Given the description of an element on the screen output the (x, y) to click on. 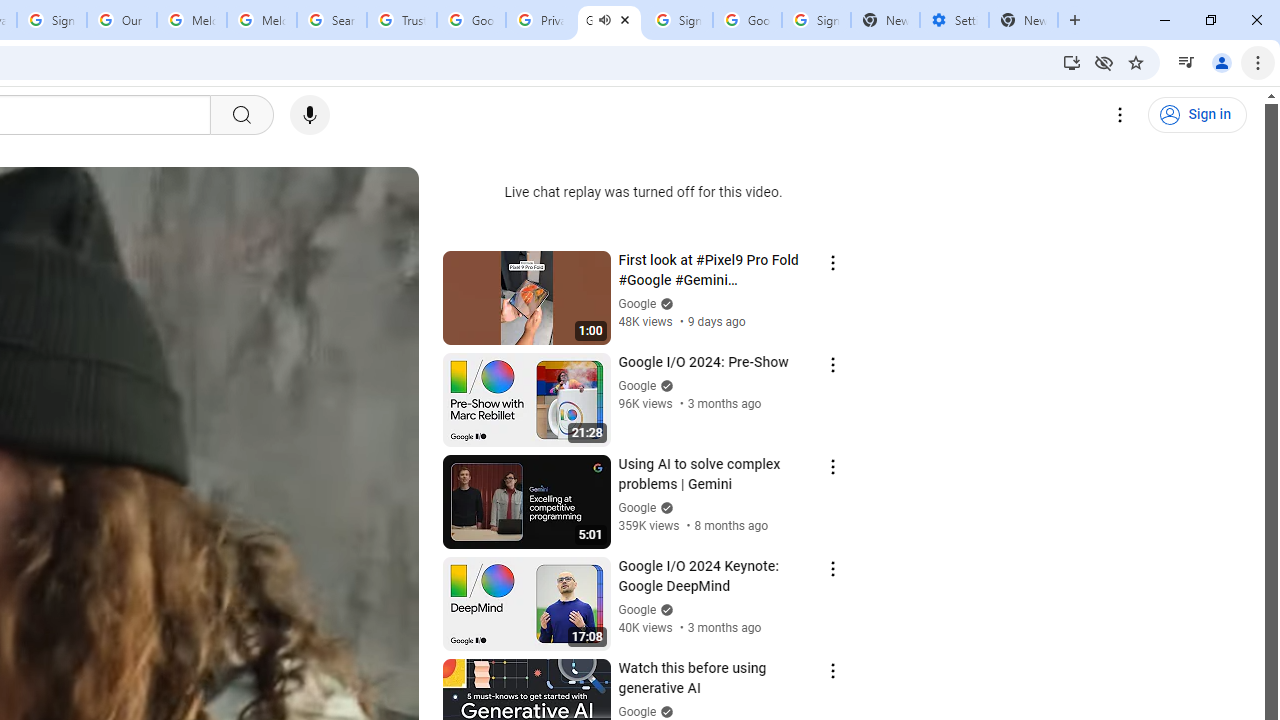
New Tab (1023, 20)
Google Ads - Sign in (470, 20)
Search our Doodle Library Collection - Google Doodles (332, 20)
